Given the description of an element on the screen output the (x, y) to click on. 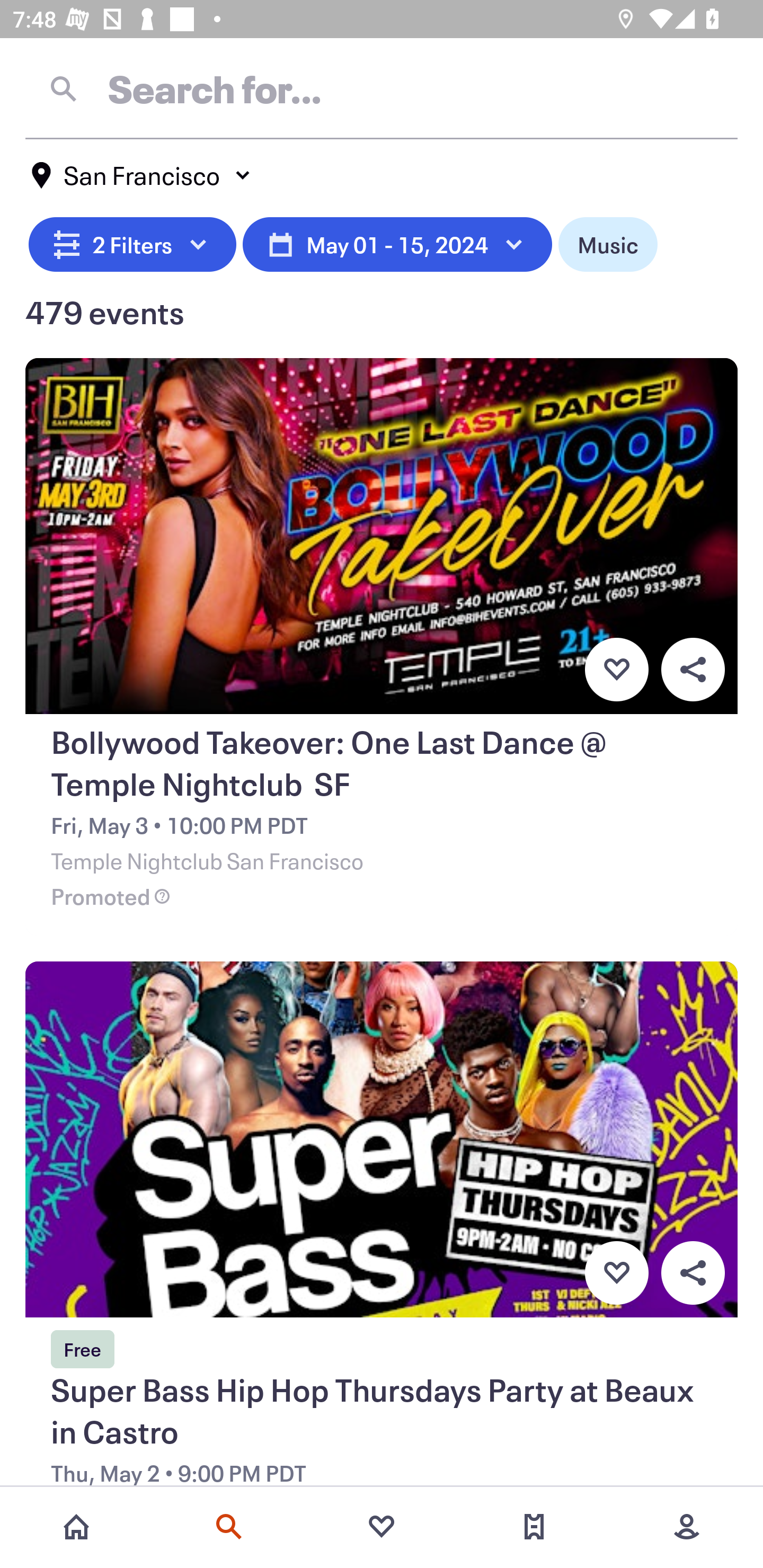
Search for… (381, 88)
San Francisco (141, 175)
2 Filters (132, 241)
May 01 - 15, 2024 (397, 241)
Music (607, 241)
Favorite button (616, 669)
Overflow menu button (692, 669)
Favorite button (616, 1272)
Overflow menu button (692, 1272)
Home (76, 1526)
Search events (228, 1526)
Favorites (381, 1526)
Tickets (533, 1526)
More (686, 1526)
